Given the description of an element on the screen output the (x, y) to click on. 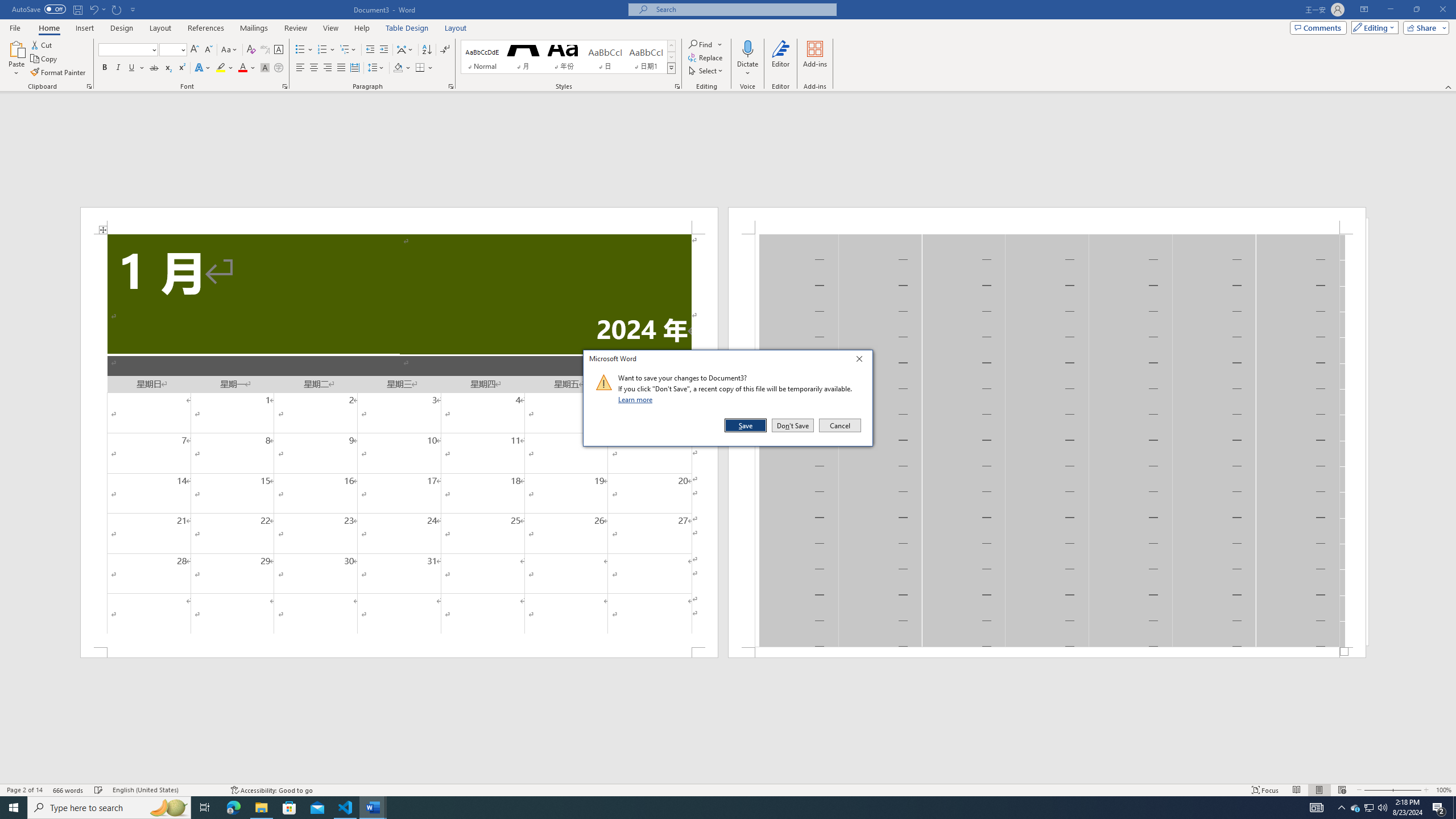
User Promoted Notification Area (1368, 807)
Undo Distribute Para (96, 9)
Sort... (426, 49)
File Explorer - 1 running window (261, 807)
Font Color RGB(255, 0, 0) (241, 67)
Language English (United States) (165, 790)
AutomationID: 4105 (1316, 807)
